Given the description of an element on the screen output the (x, y) to click on. 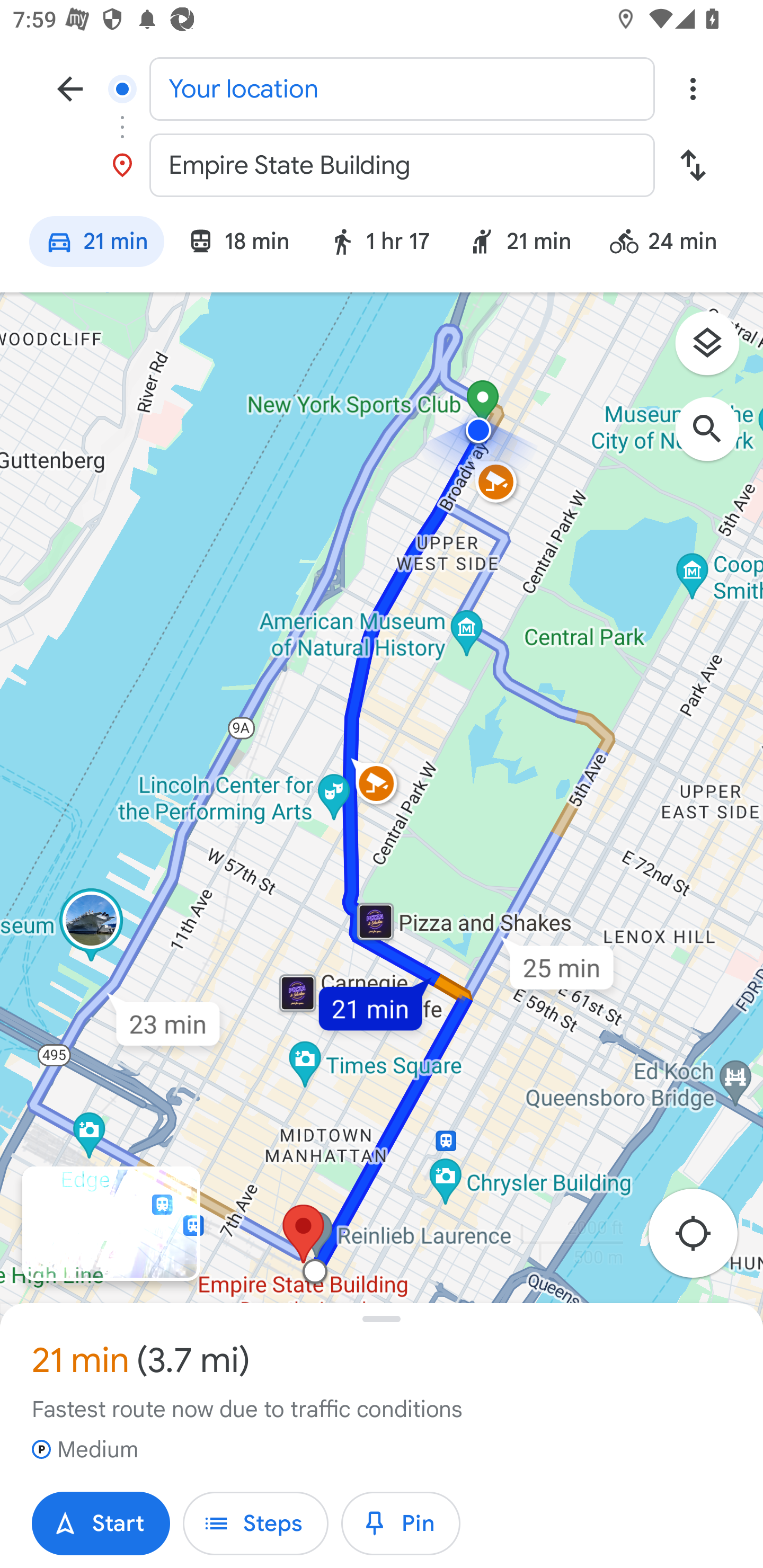
Navigate up (70, 88)
Your location Start location, Your location (381, 88)
Overflow menu (692, 88)
Swap start and destination (692, 165)
Transit mode: 18 min 18 min (238, 244)
Walking mode: 1 hr 17 1 hr 17 (379, 244)
Ride service: 21 min 21 min (519, 244)
Bicycling mode: 24 min 24 min (671, 244)
Layers (716, 349)
Search along route (716, 438)
Open Immersive View for routes (110, 1223)
Re-center map to your location (702, 1238)
Steps Steps Steps (255, 1522)
Pin trip Pin Pin trip (400, 1522)
